Given the description of an element on the screen output the (x, y) to click on. 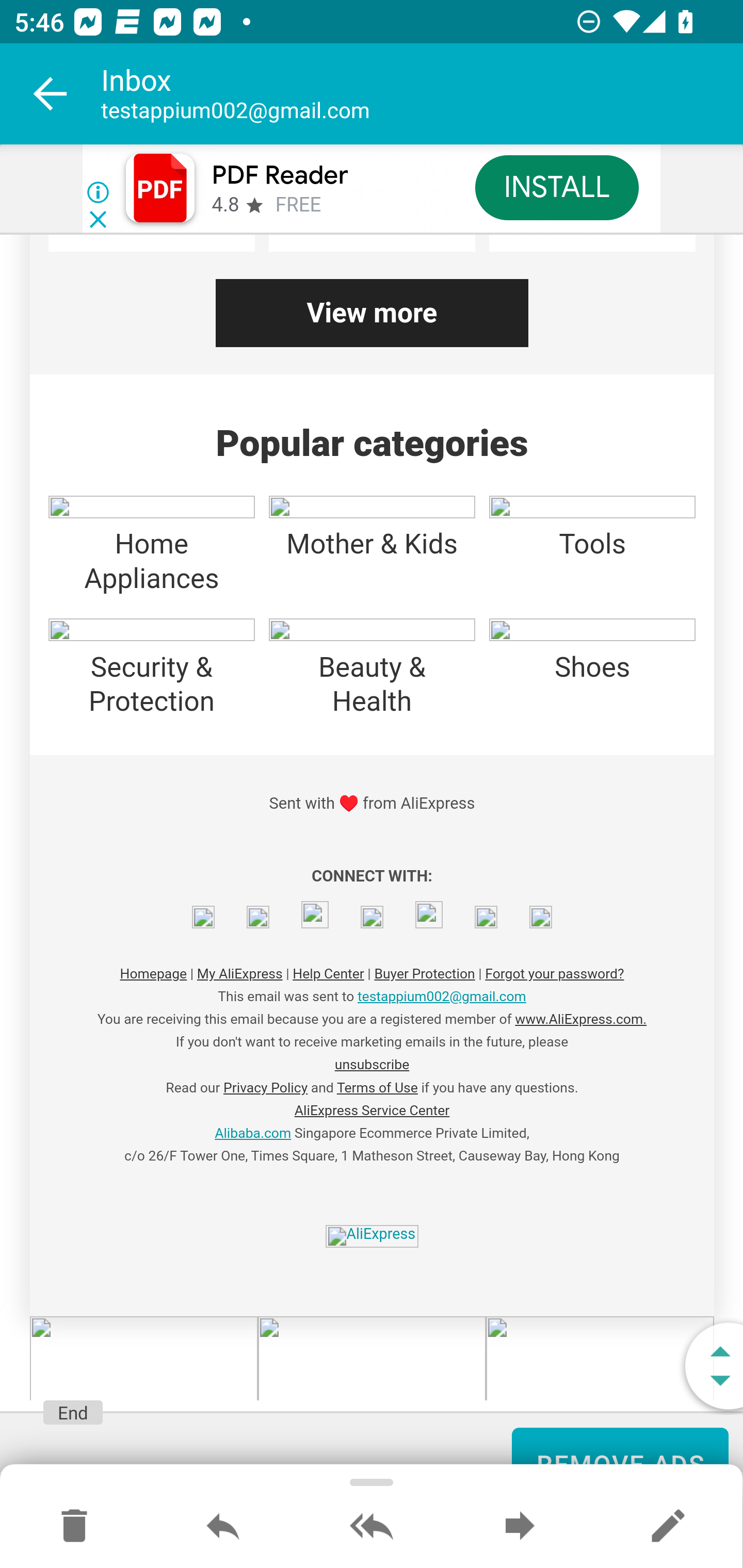
Navigate up (50, 93)
Inbox testappium002@gmail.com (422, 93)
INSTALL (556, 187)
PDF Reader (279, 175)
View more (371, 312)
Home Appliances (151, 561)
Mother & Kids (372, 561)
Tools (591, 561)
Security & Protection (151, 685)
Beauty & Health (372, 685)
Shoes (591, 685)
data: (314, 914)
data: (428, 914)
data: (202, 917)
data: (258, 917)
data: (371, 917)
data: (485, 917)
data: (540, 917)
Homepage (152, 974)
My AliExpress (238, 974)
Help Center (328, 974)
Buyer Protection (425, 974)
Forgot your password? (553, 974)
testappium002@gmail.com (441, 996)
www.AliExpress.com. (580, 1019)
 unsubscribe unsubscribe (371, 1064)
Privacy Policy (265, 1087)
Terms of Use (377, 1087)
AliExpress Service Center (371, 1110)
Alibaba.com (252, 1133)
AliExpress (372, 1236)
Move to Deleted (74, 1527)
Reply (222, 1527)
Reply all (371, 1527)
Forward (519, 1527)
Reply as new (667, 1527)
